Given the description of an element on the screen output the (x, y) to click on. 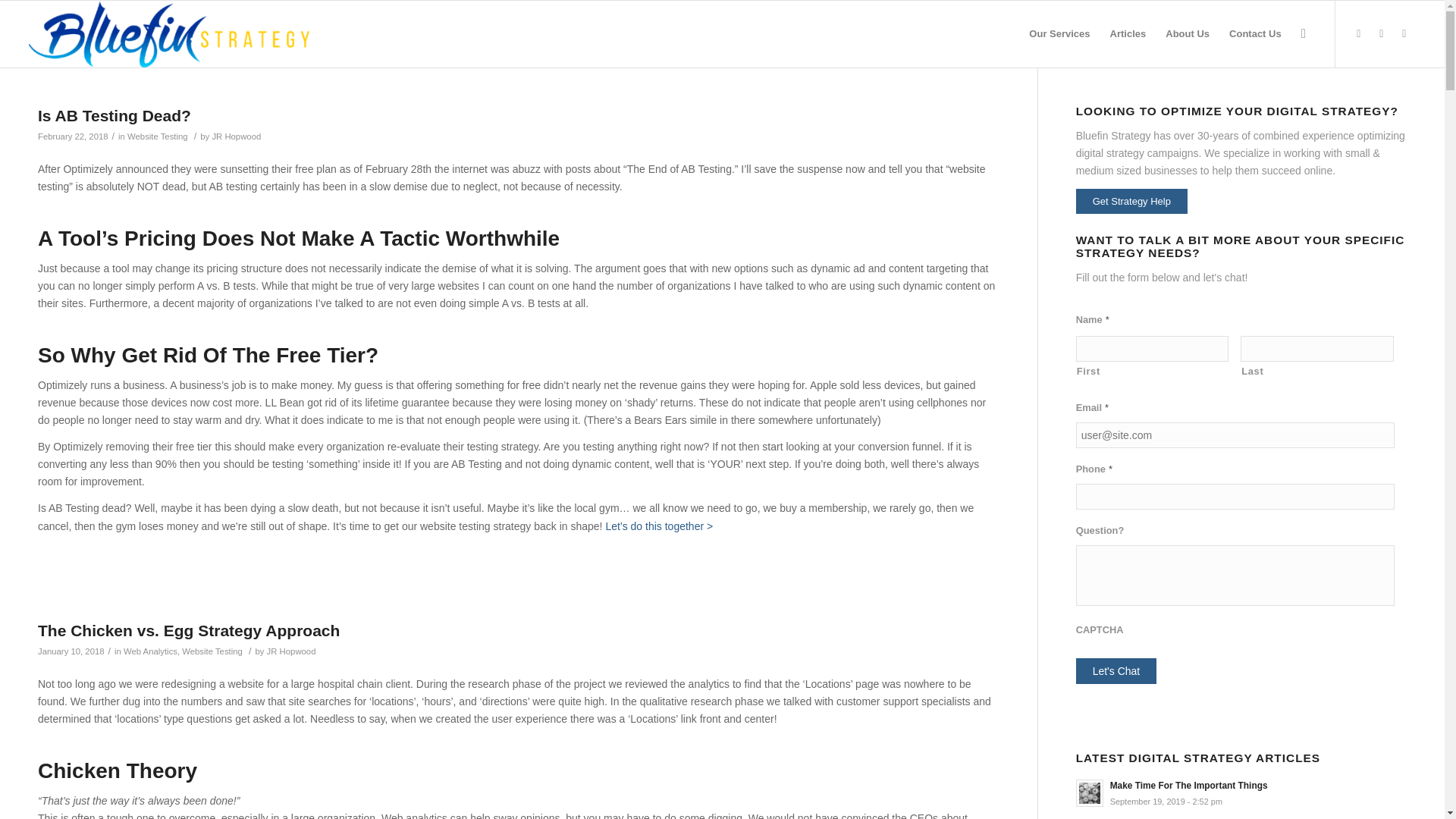
Permanent Link: The Chicken vs. Egg Strategy Approach (188, 630)
Posts by JR Hopwood (235, 135)
Posts by JR Hopwood (290, 651)
The Chicken vs. Egg Strategy Approach (188, 630)
About Us (1188, 33)
Website Testing (212, 651)
Let's Chat (1116, 670)
Permanent Link: Is AB Testing Dead? (113, 115)
Website Testing (157, 135)
Twitter (1381, 33)
